Given the description of an element on the screen output the (x, y) to click on. 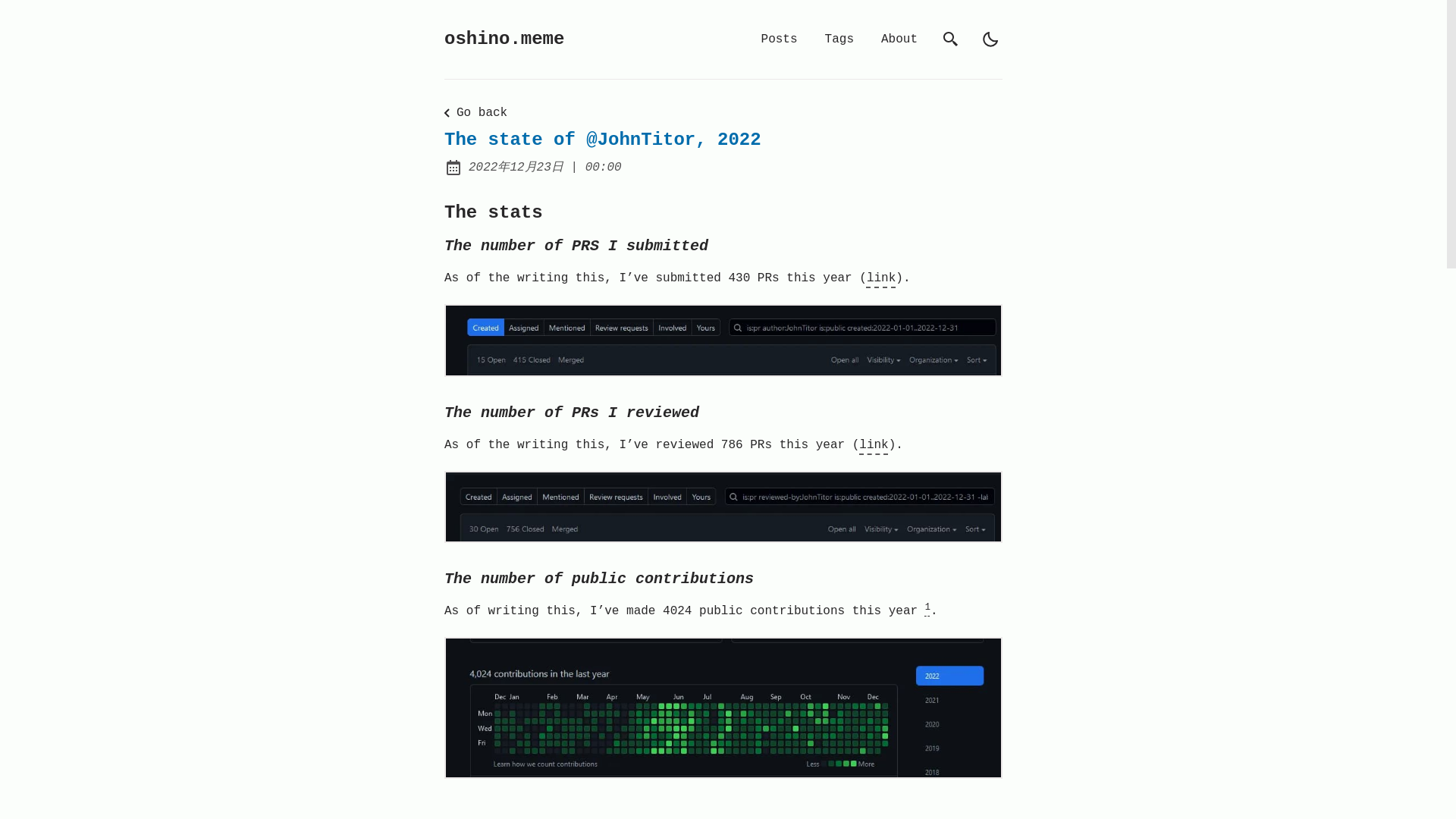
Tags (839, 39)
link (873, 445)
Posts (779, 39)
oshino.meme (504, 39)
About (899, 39)
Search (950, 39)
link (880, 278)
Go back (472, 113)
